Given the description of an element on the screen output the (x, y) to click on. 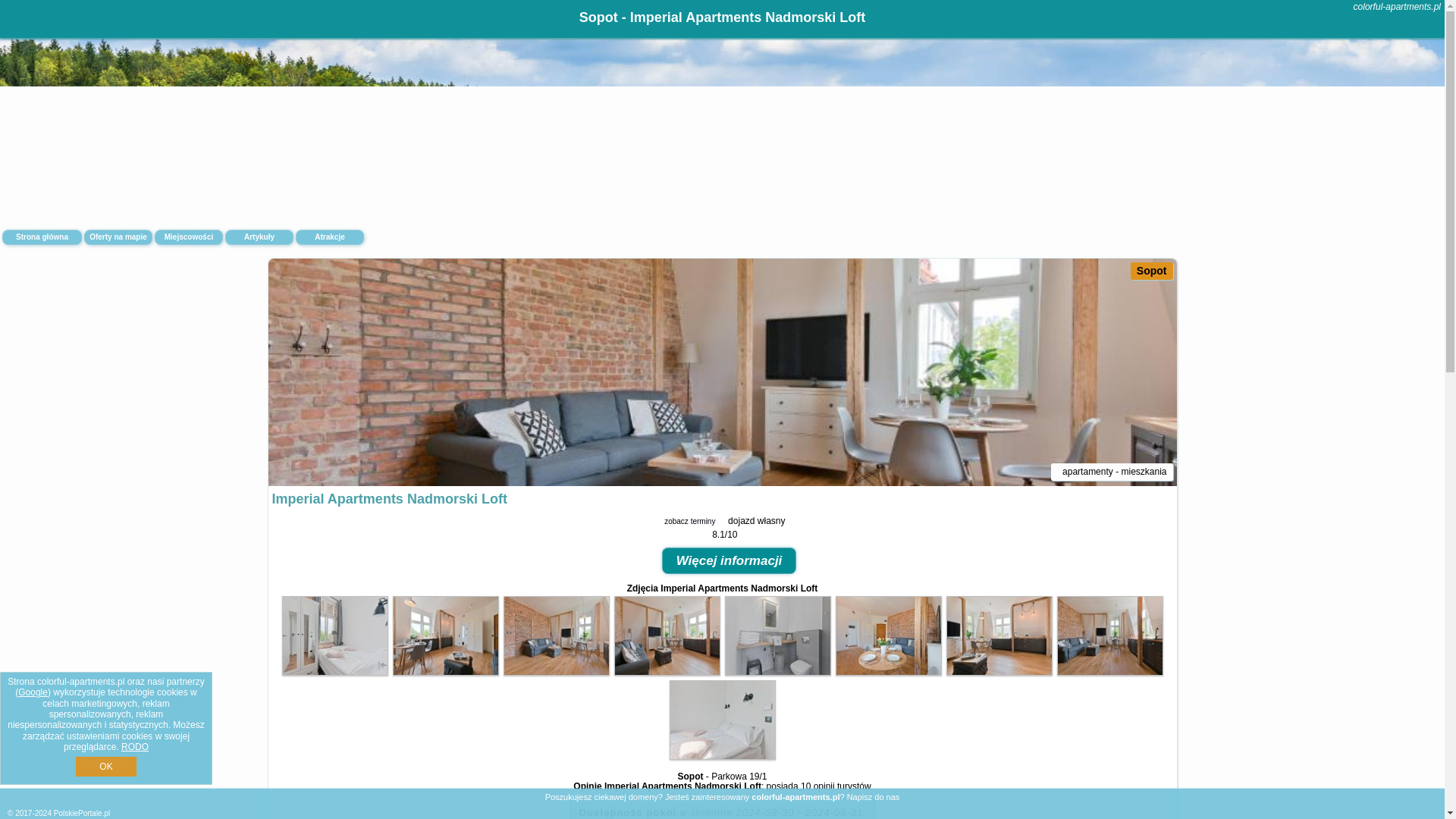
Atrakcje (329, 237)
home page (1397, 6)
oferty Sopot (1152, 270)
Sopot (1152, 270)
Urlop Wczasy Imperial Apartments Nadmorski Loft Polska (334, 671)
Top Sopot (555, 635)
zobacz terminy (687, 521)
Oferty na mapie (118, 237)
zobacz terminy (688, 520)
Atrakcje turystyczne (329, 237)
